Given the description of an element on the screen output the (x, y) to click on. 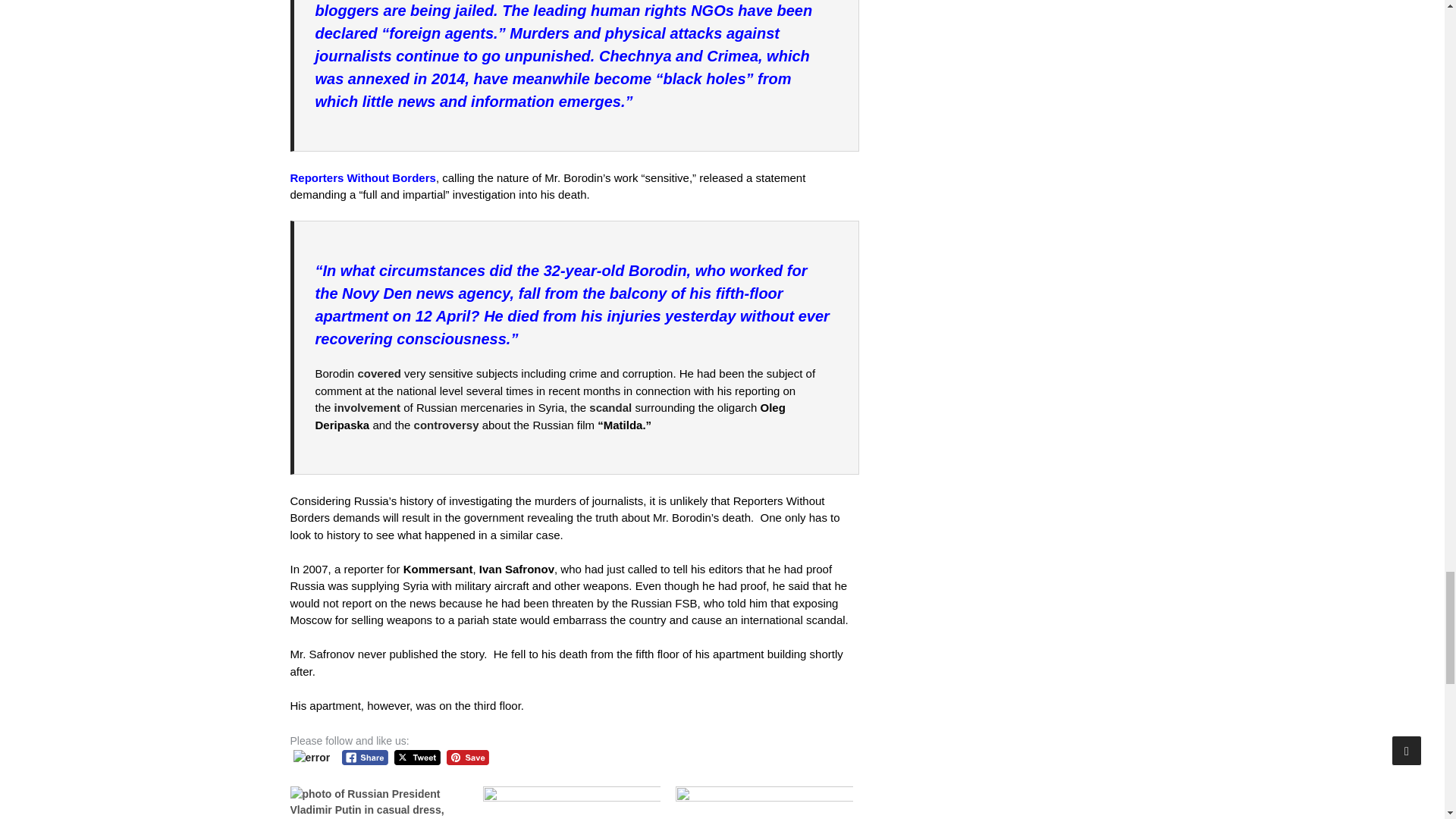
Facebook Share (365, 757)
scandal (610, 407)
Tweet (417, 757)
Reporters Without Borders (362, 177)
What Does Putin Really Want? (764, 802)
Pin Share (466, 757)
controversy (446, 424)
involvement (367, 407)
covered (378, 373)
